Given the description of an element on the screen output the (x, y) to click on. 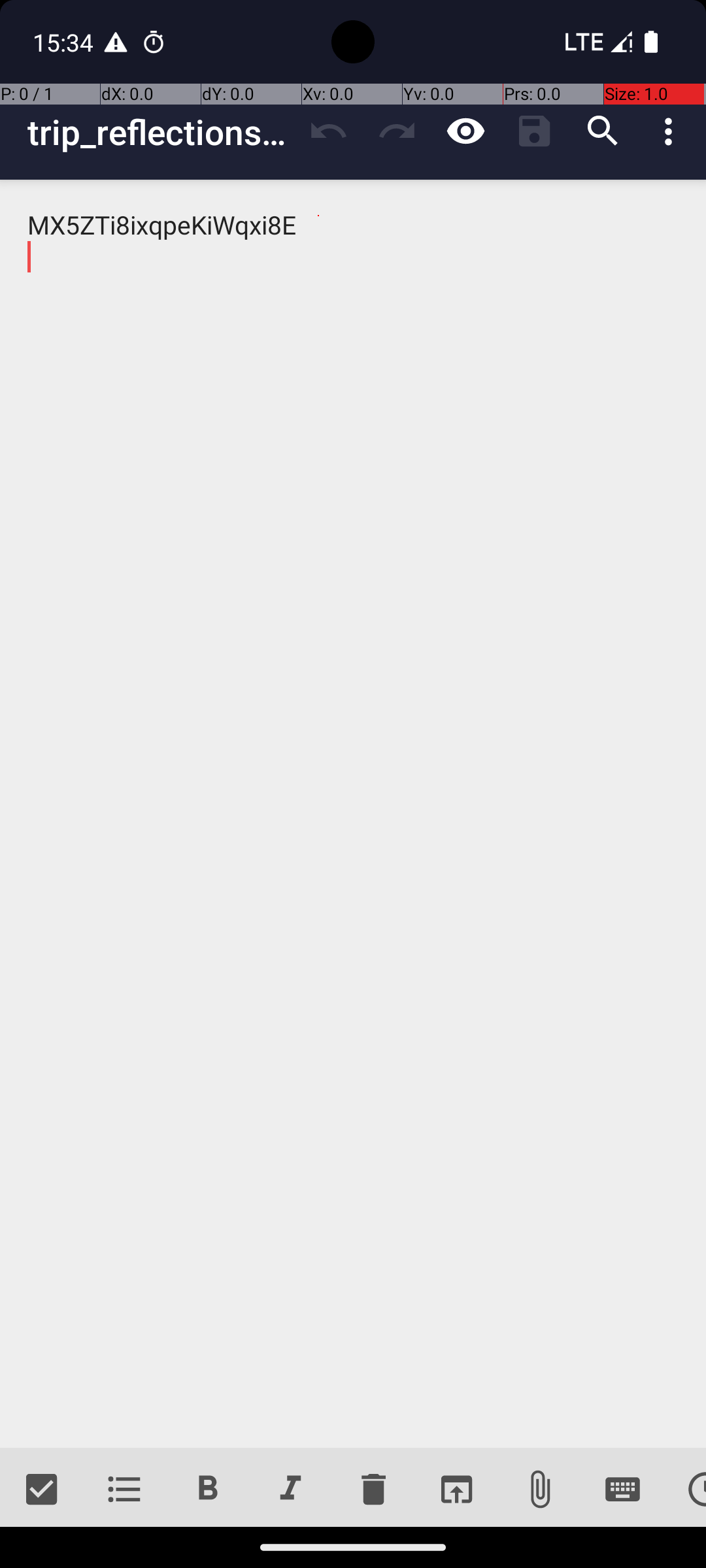
trip_reflections_recent_2023_07_04 Element type: android.widget.TextView (160, 131)
MX5ZTi8ixqpeKiWqxi8E
 Element type: android.widget.EditText (353, 813)
